Given the description of an element on the screen output the (x, y) to click on. 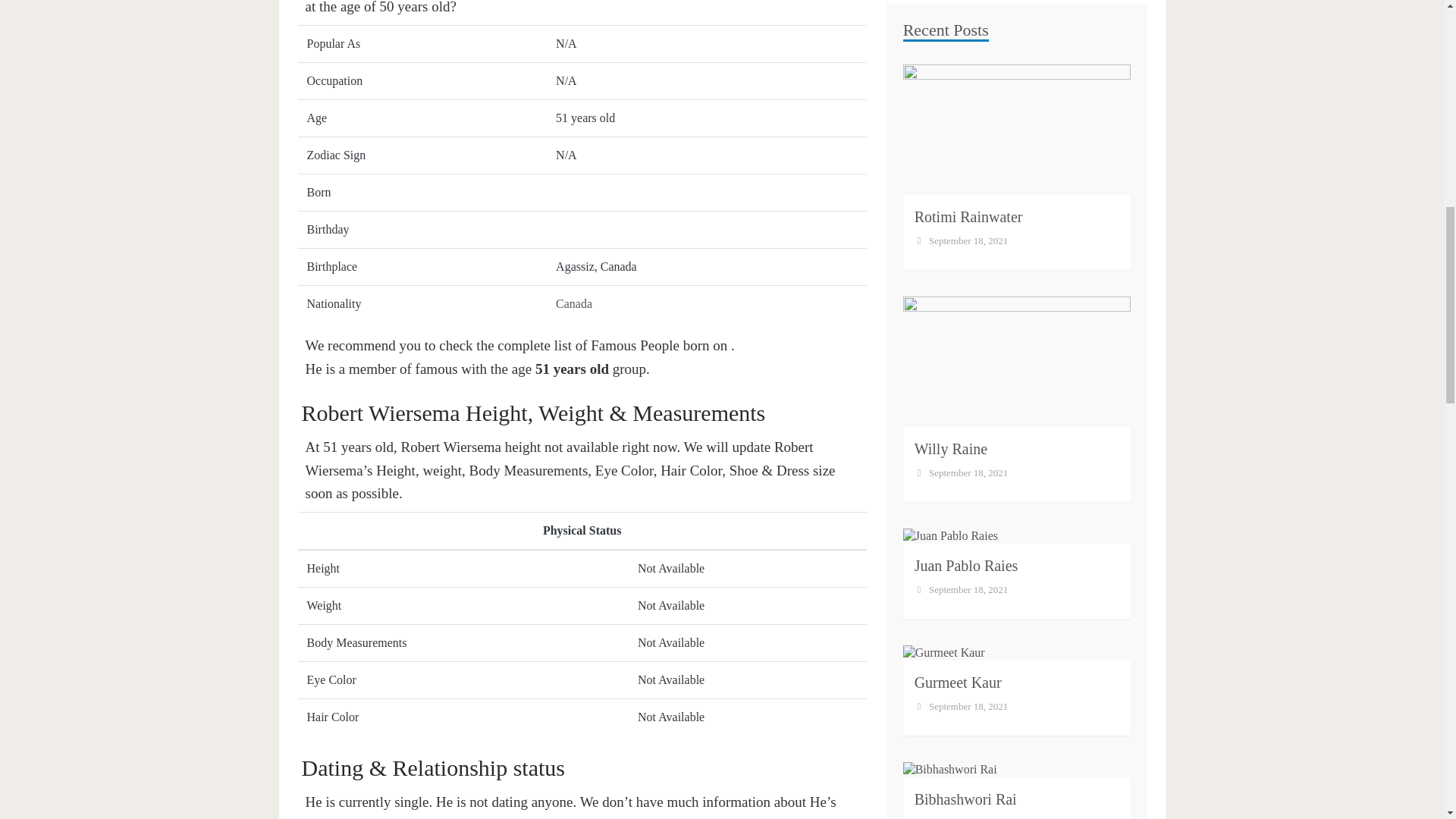
Willy Raine (950, 36)
Gurmeet Kaur (957, 269)
Willy Raine (950, 36)
Bibhashwori Rai (965, 386)
Canada (574, 303)
Juan Pablo Raies (965, 152)
